Given the description of an element on the screen output the (x, y) to click on. 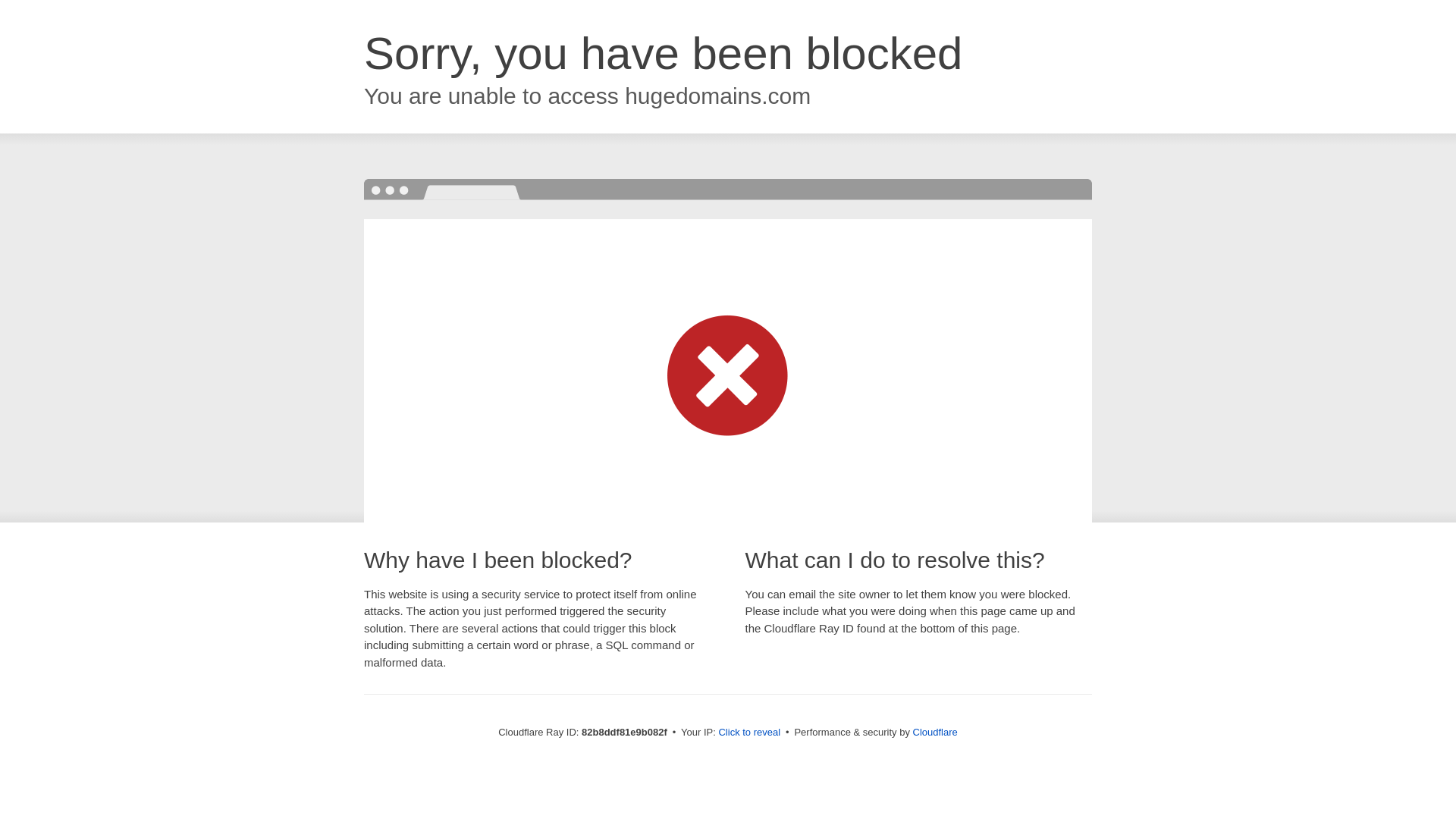
Click to reveal Element type: text (749, 732)
Cloudflare Element type: text (935, 731)
